Given the description of an element on the screen output the (x, y) to click on. 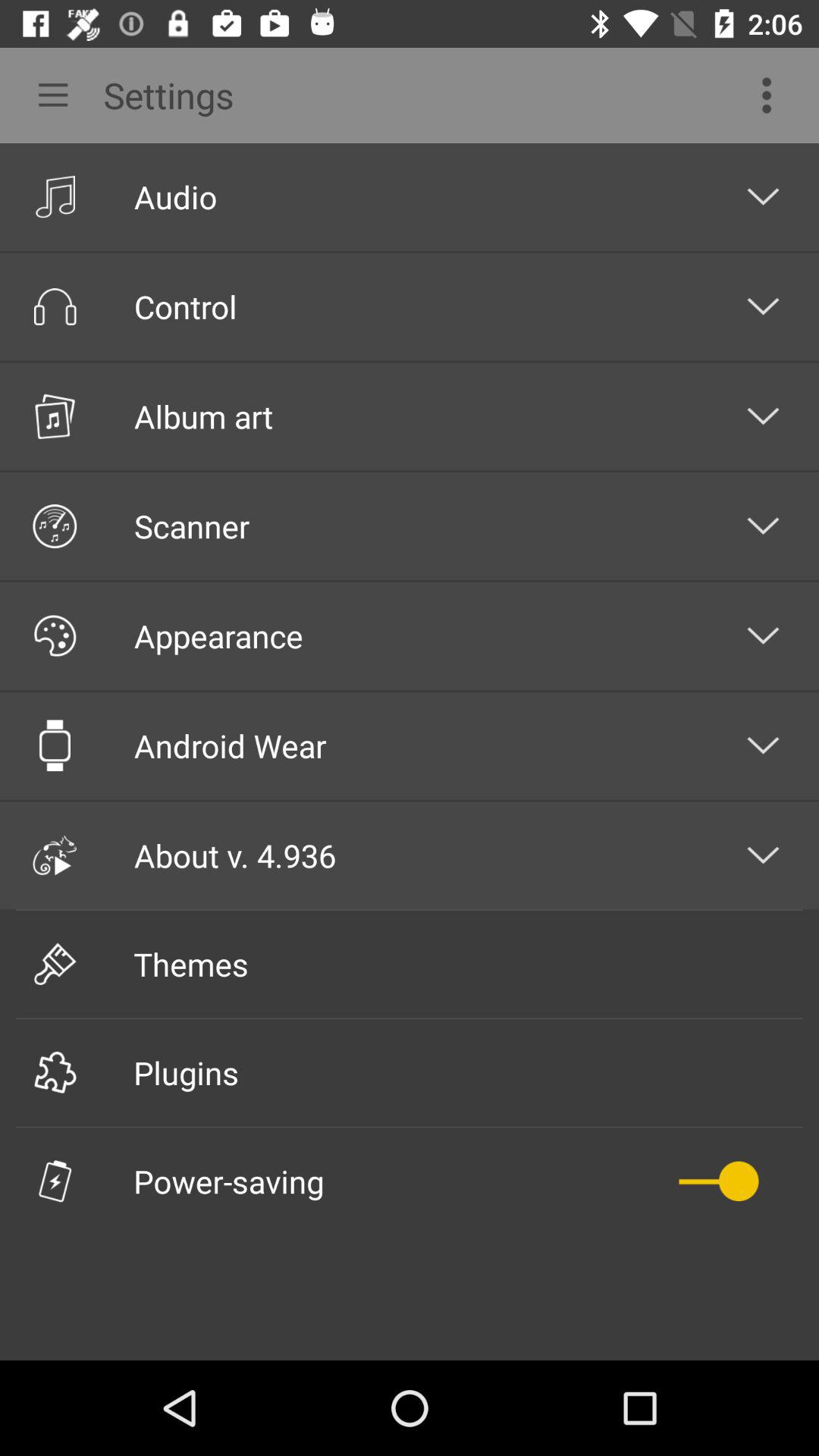
turn off app to the left of settings item (47, 95)
